Given the description of an element on the screen output the (x, y) to click on. 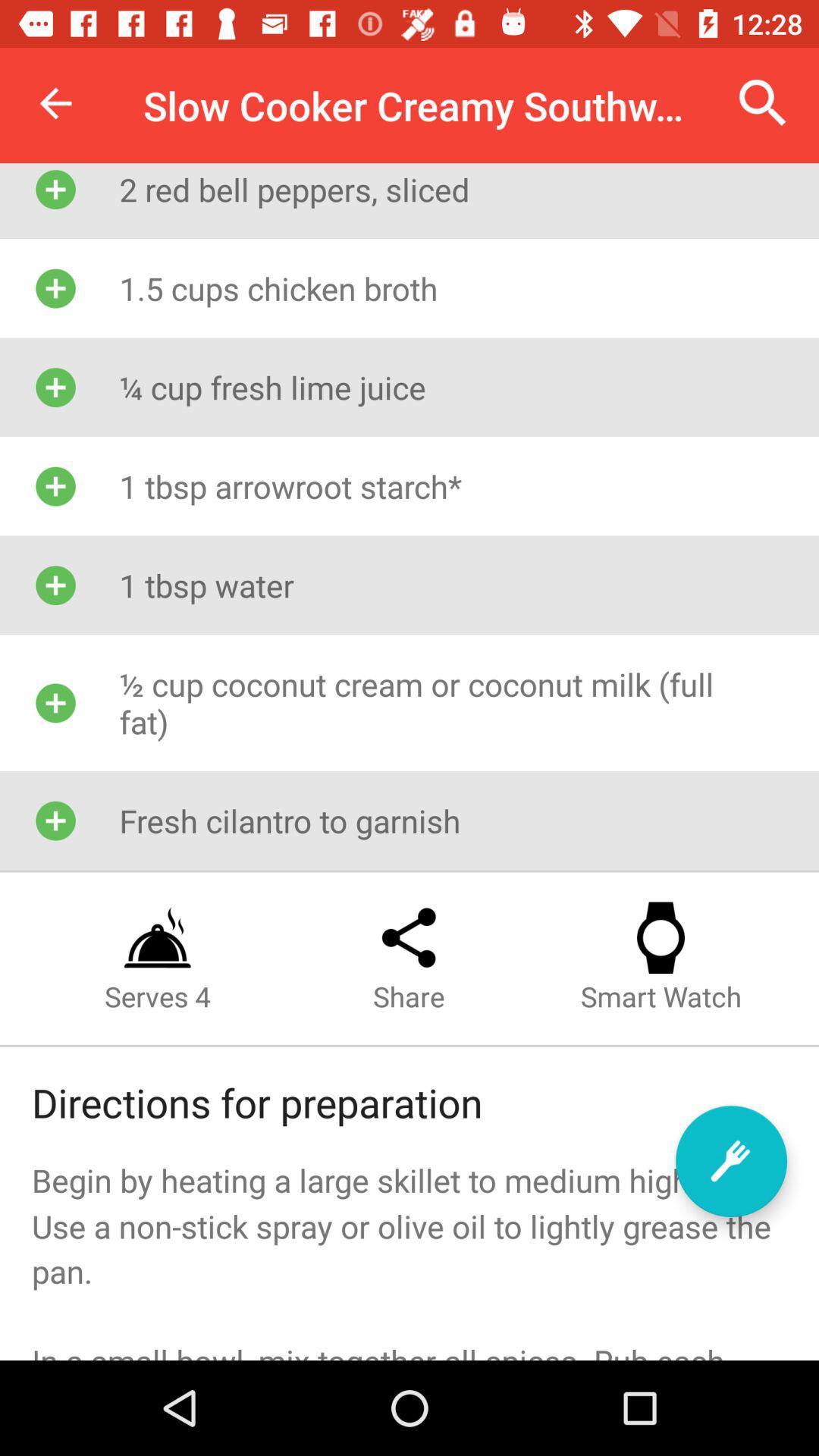
tap to view picture (731, 1161)
